Given the description of an element on the screen output the (x, y) to click on. 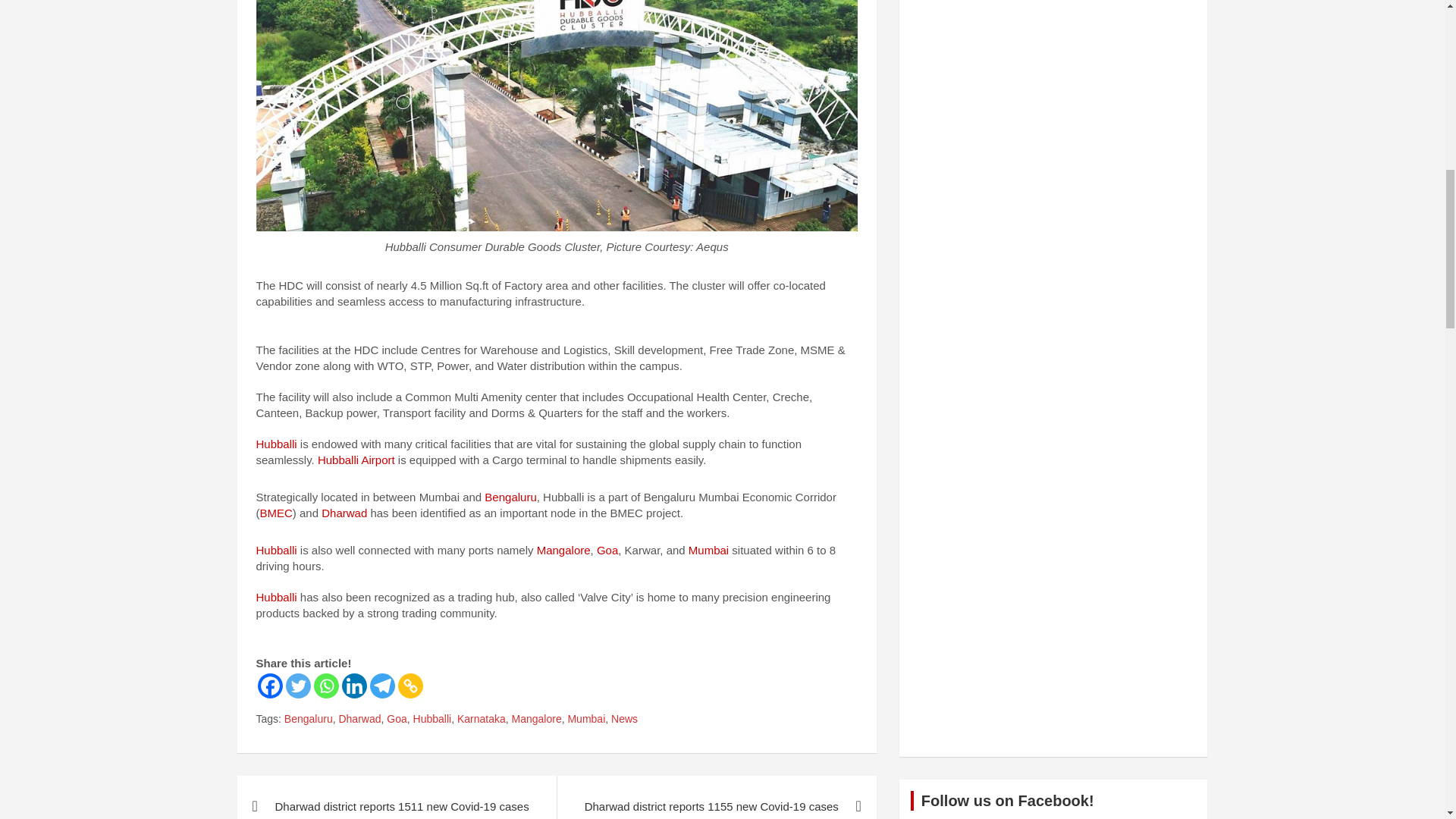
Facebook (269, 685)
Telegram (381, 685)
Whatsapp (326, 685)
Linkedin (353, 685)
Hubballi (276, 443)
Twitter (297, 685)
Copy Link (409, 685)
